Given the description of an element on the screen output the (x, y) to click on. 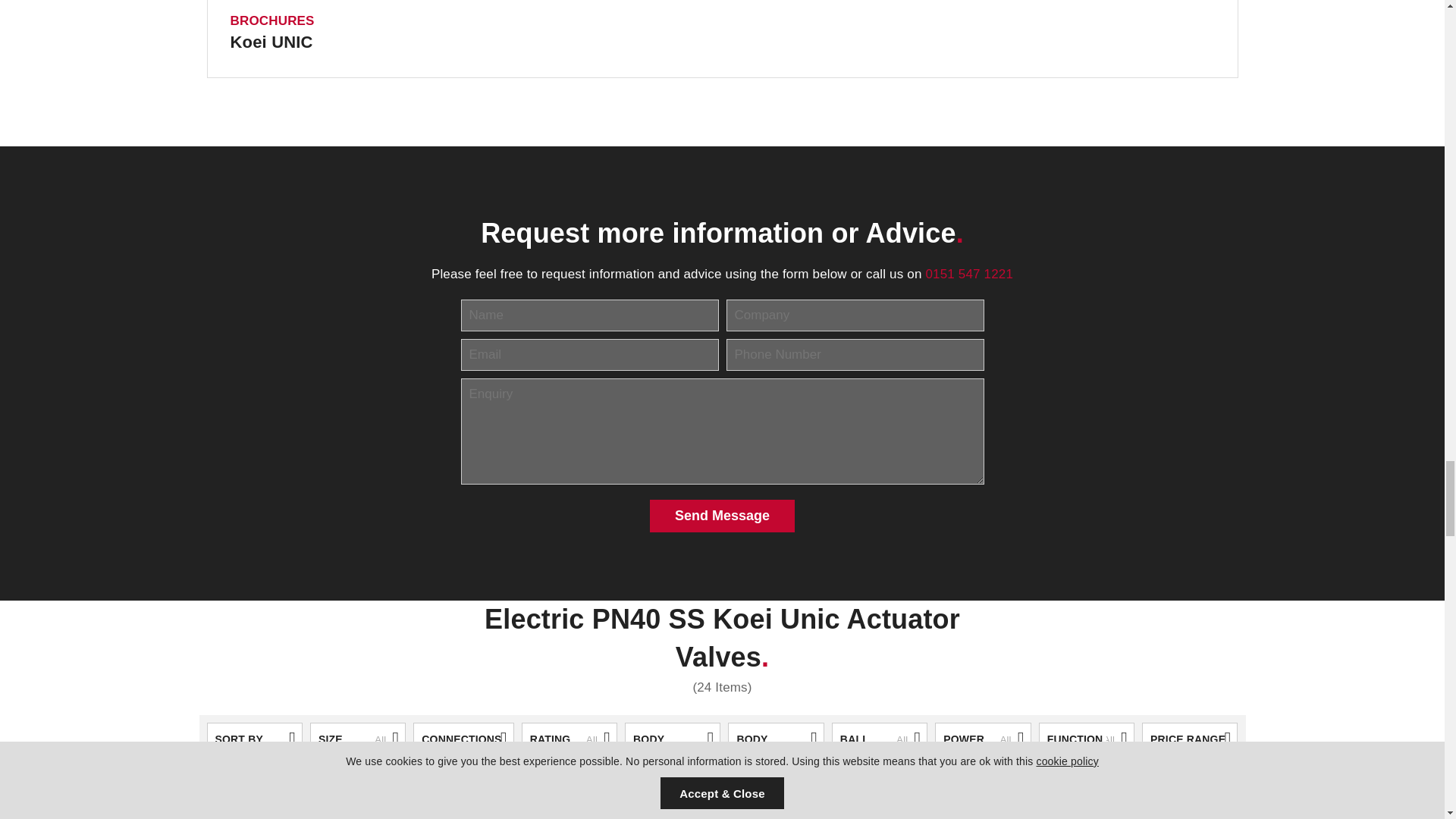
Send Message (721, 515)
